Given the description of an element on the screen output the (x, y) to click on. 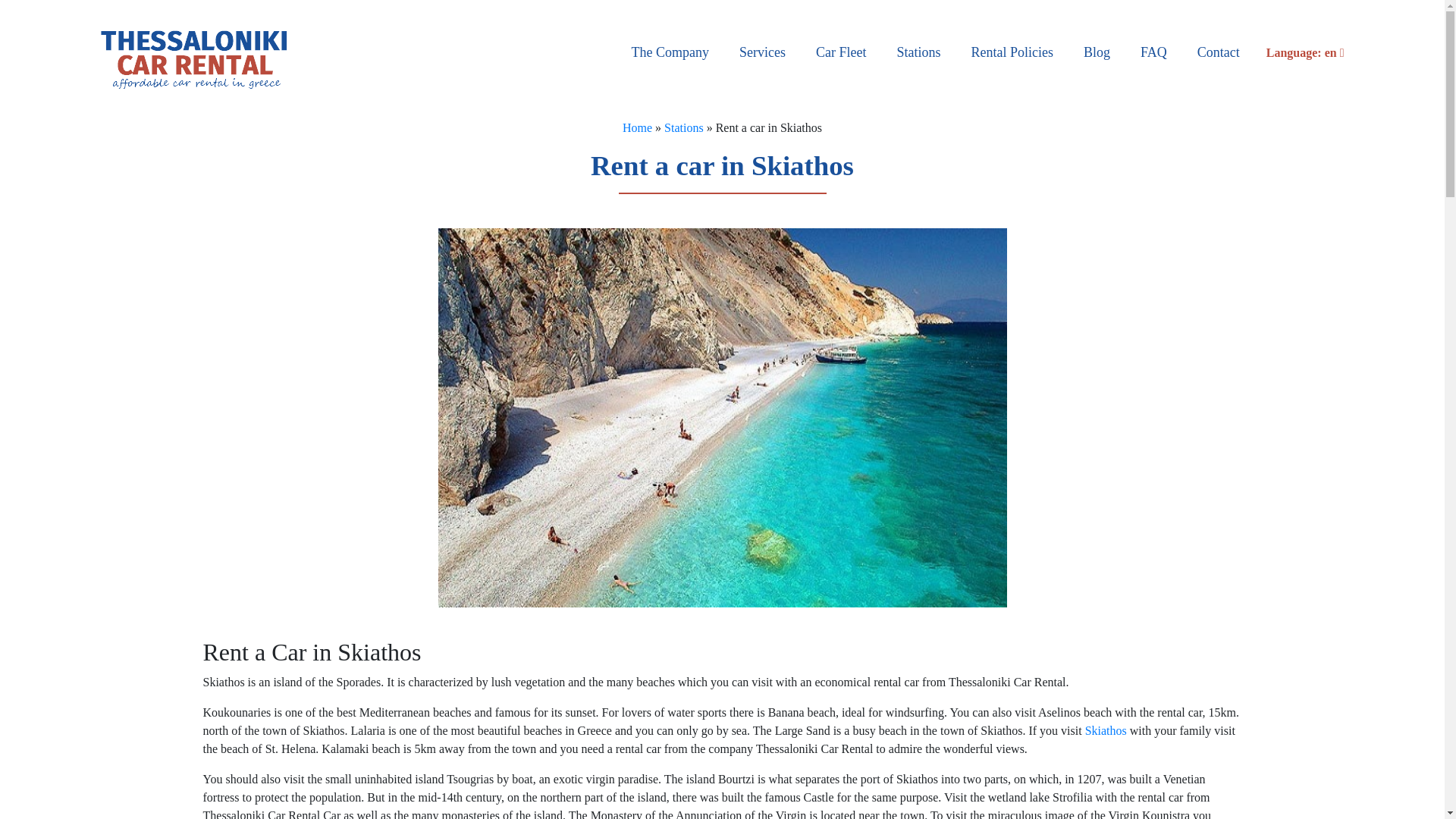
Car Fleet (841, 53)
The Company (670, 53)
Stations (918, 53)
language selector (1299, 53)
Services (762, 53)
